Given the description of an element on the screen output the (x, y) to click on. 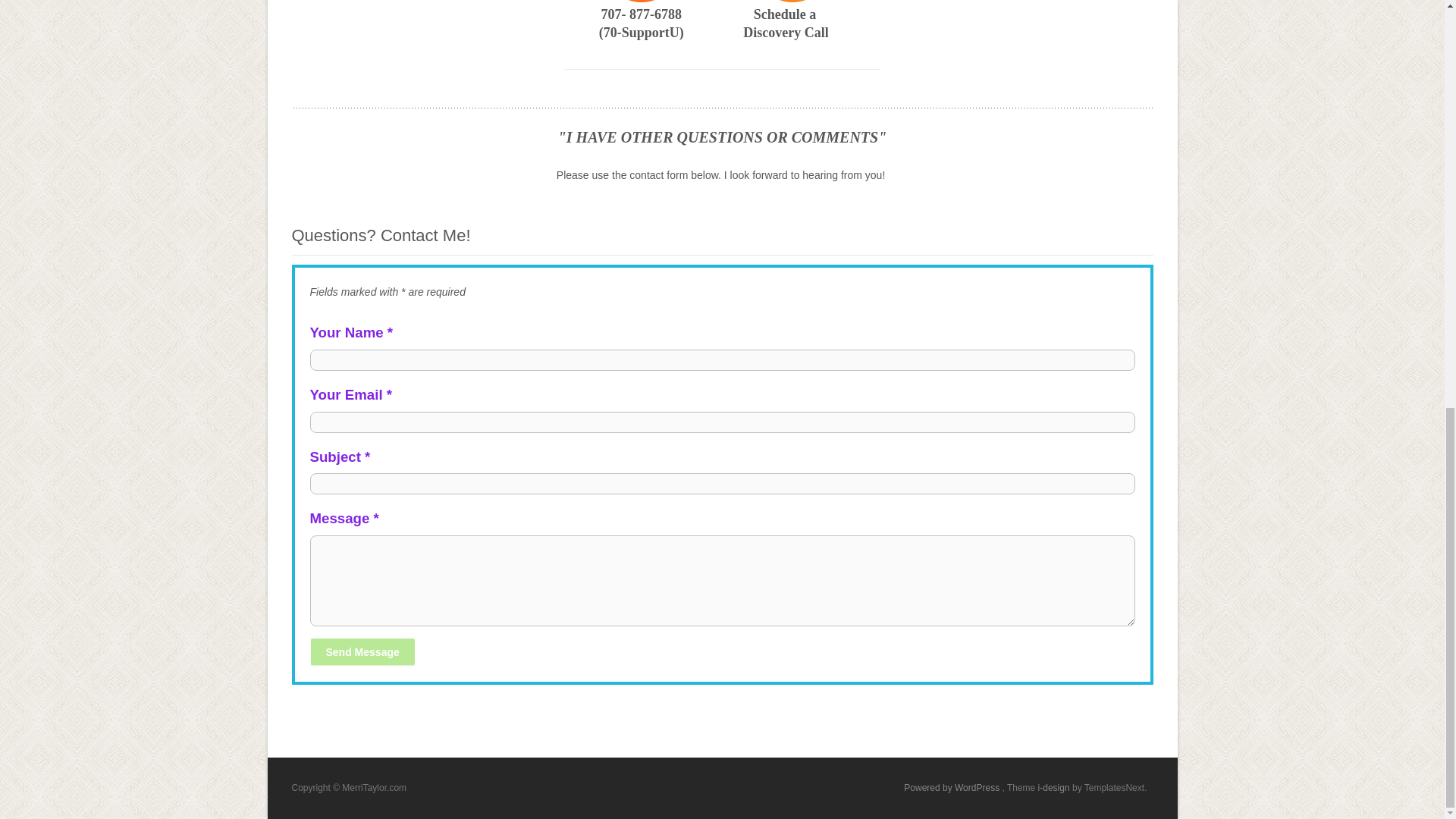
i-design (1054, 787)
Semantic Personal Publishing Platform (952, 787)
Multipurpose WordPress Theme (1054, 787)
Send Message (361, 652)
Powered by WordPress (952, 787)
